Given the description of an element on the screen output the (x, y) to click on. 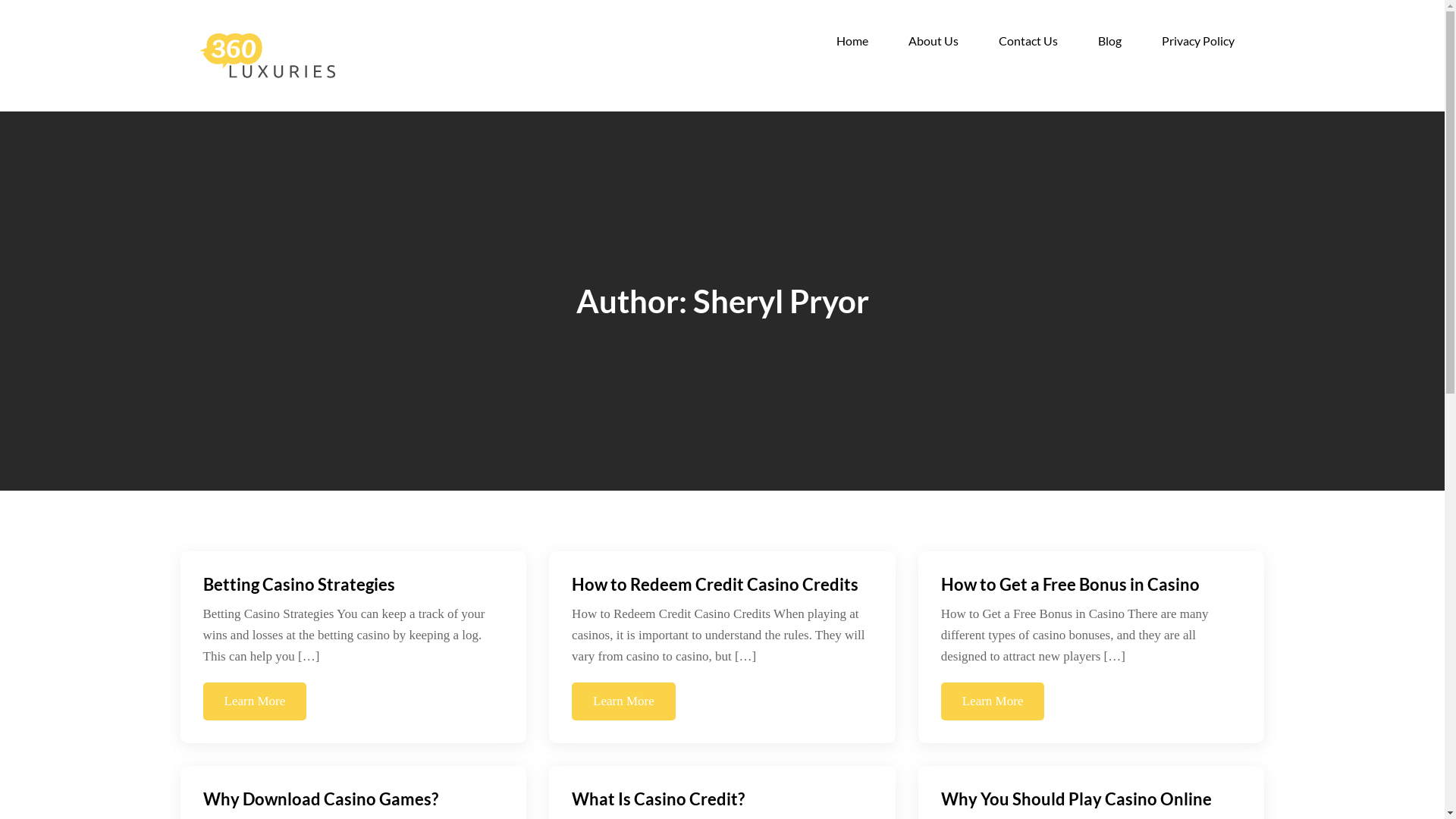
360 Luxuries Element type: text (411, 68)
Blog Element type: text (1109, 40)
Learn More Element type: text (992, 701)
How to Get a Free Bonus in Casino Element type: text (1070, 584)
Privacy Policy Element type: text (1197, 40)
Why Download Casino Games? Element type: text (320, 798)
Contact Us Element type: text (1027, 40)
Learn More Element type: text (255, 701)
Betting Casino Strategies Element type: text (299, 584)
Why You Should Play Casino Online Element type: text (1076, 798)
Learn More Element type: text (623, 701)
How to Redeem Credit Casino Credits Element type: text (714, 584)
About Us Element type: text (933, 40)
What Is Casino Credit? Element type: text (657, 798)
Home Element type: text (851, 40)
